Given the description of an element on the screen output the (x, y) to click on. 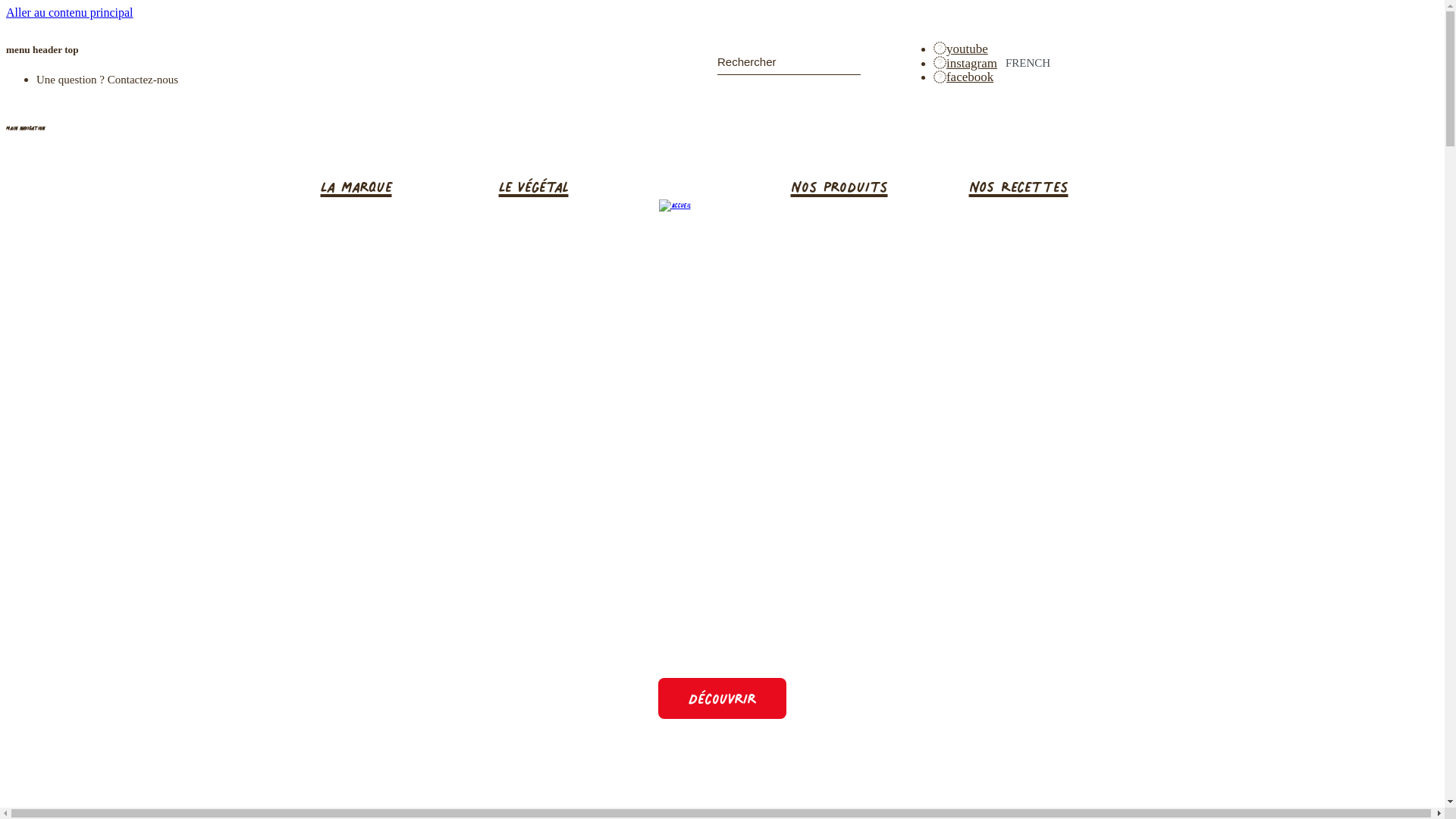
Aller au contenu principal Element type: text (69, 12)
NOS Recettes Element type: text (1046, 186)
youtube Element type: text (960, 48)
Nos produits Element type: text (868, 186)
FRENCH Element type: text (1016, 62)
facebook Element type: text (963, 76)
La marque Element type: text (398, 186)
Une question ? Contactez-nous Element type: text (107, 79)
Apply Element type: text (848, 62)
Accueil Element type: hover (674, 205)
instagram Element type: text (965, 63)
